Given the description of an element on the screen output the (x, y) to click on. 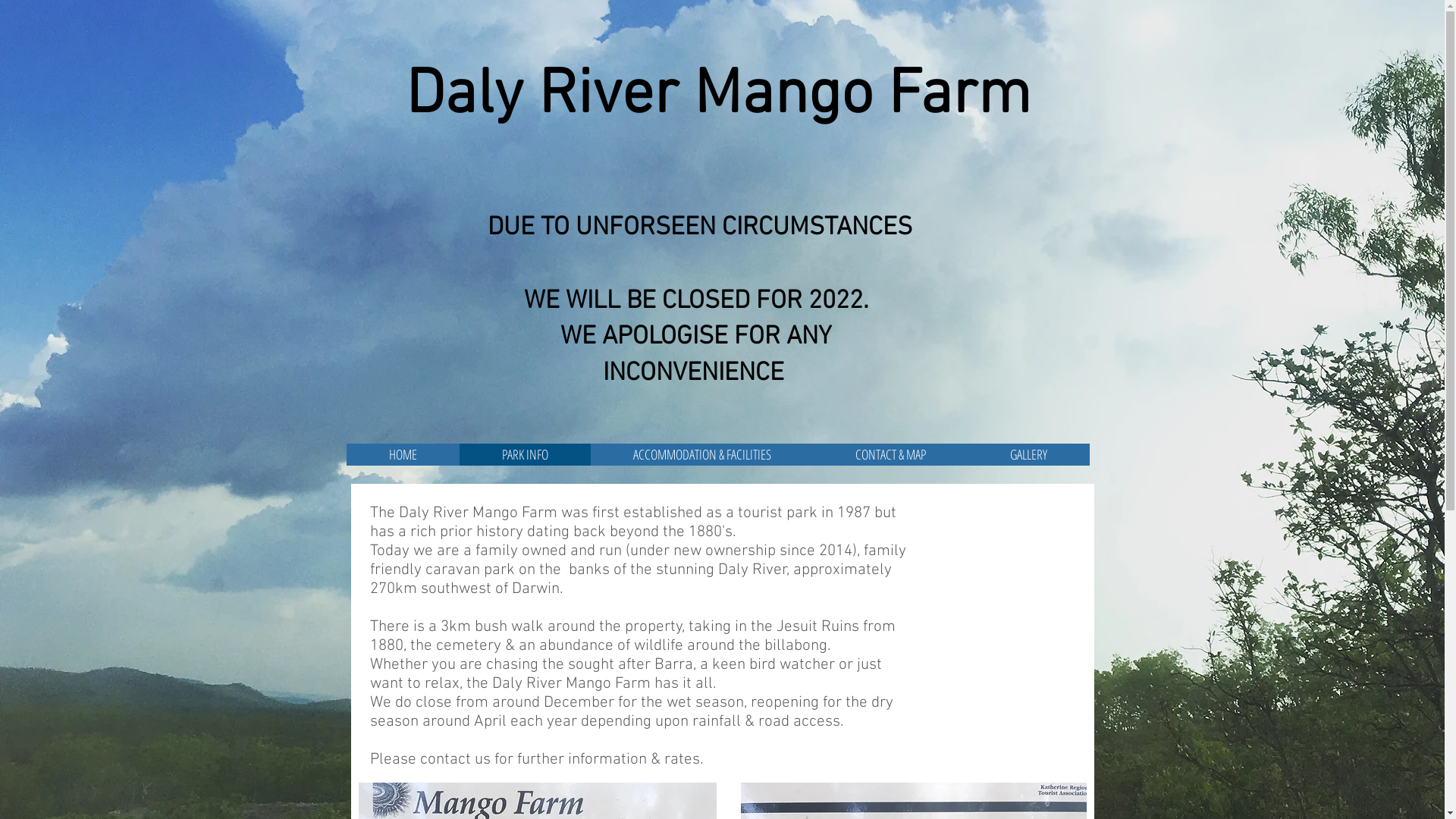
GALLERY Element type: text (1027, 454)
CONTACT & MAP Element type: text (889, 454)
PARK INFO Element type: text (524, 454)
Daly Element type: text (463, 96)
HOME Element type: text (401, 454)
ACCOMMODATION & FACILITIES Element type: text (700, 454)
